Given the description of an element on the screen output the (x, y) to click on. 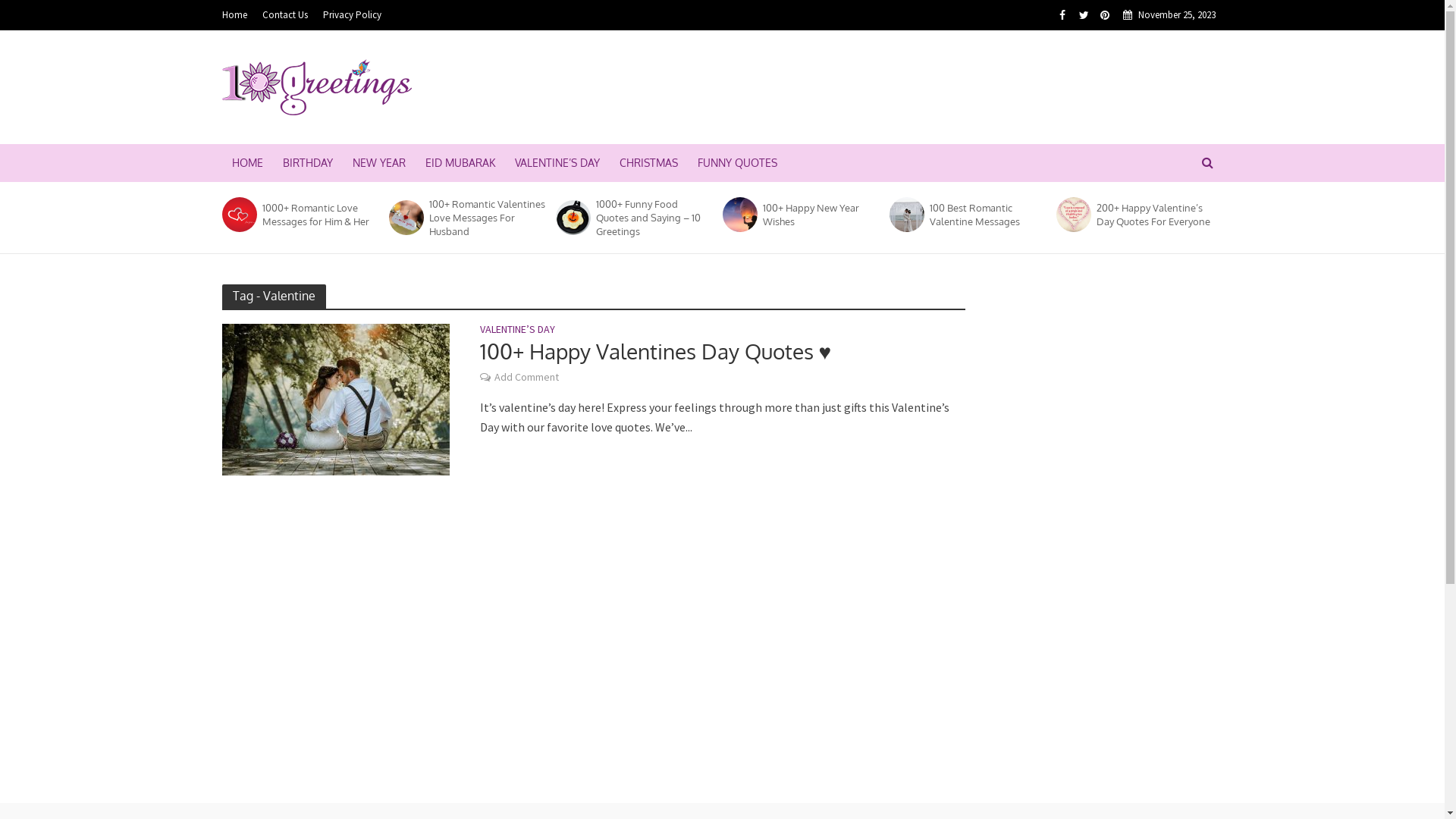
100 Best Romantic Valentine Messages Element type: hover (905, 214)
1000+ Romantic Love Messages for Him & Her Element type: hover (238, 214)
CHRISTMAS Element type: text (648, 163)
200+ Happy Valentine's Day Quotes For Everyone Element type: hover (1072, 214)
1000+ Romantic Love Messages for Him & Her Element type: text (320, 214)
100+ Happy New Year Wishes Element type: hover (738, 214)
100+ Happy New Year Wishes Element type: hover (737, 214)
Add Comment Element type: text (526, 378)
FUNNY QUOTES Element type: text (736, 163)
HOME Element type: text (246, 163)
100 Best Romantic Valentine Messages Element type: hover (904, 214)
Privacy Policy Element type: text (352, 15)
100 Best Romantic Valentine Messages Element type: text (987, 214)
Home Element type: text (237, 15)
EID MUBARAK Element type: text (460, 163)
100+ Happy New Year Wishes Element type: text (820, 214)
BIRTHDAY Element type: text (307, 163)
100+ Romantic Valentines Love Messages For Husband Element type: text (487, 217)
Contact Us Element type: text (284, 15)
100+ Romantic Valentines Love Messages For Husband Element type: hover (404, 217)
1000+ Funny Food Quotes and Saying - 10 Greetings Element type: hover (572, 217)
100+ Romantic Valentines Love Messages For Husband Element type: hover (405, 217)
NEW YEAR Element type: text (378, 163)
1000+ Romantic Love Messages for Him & Her Element type: hover (237, 214)
